Given the description of an element on the screen output the (x, y) to click on. 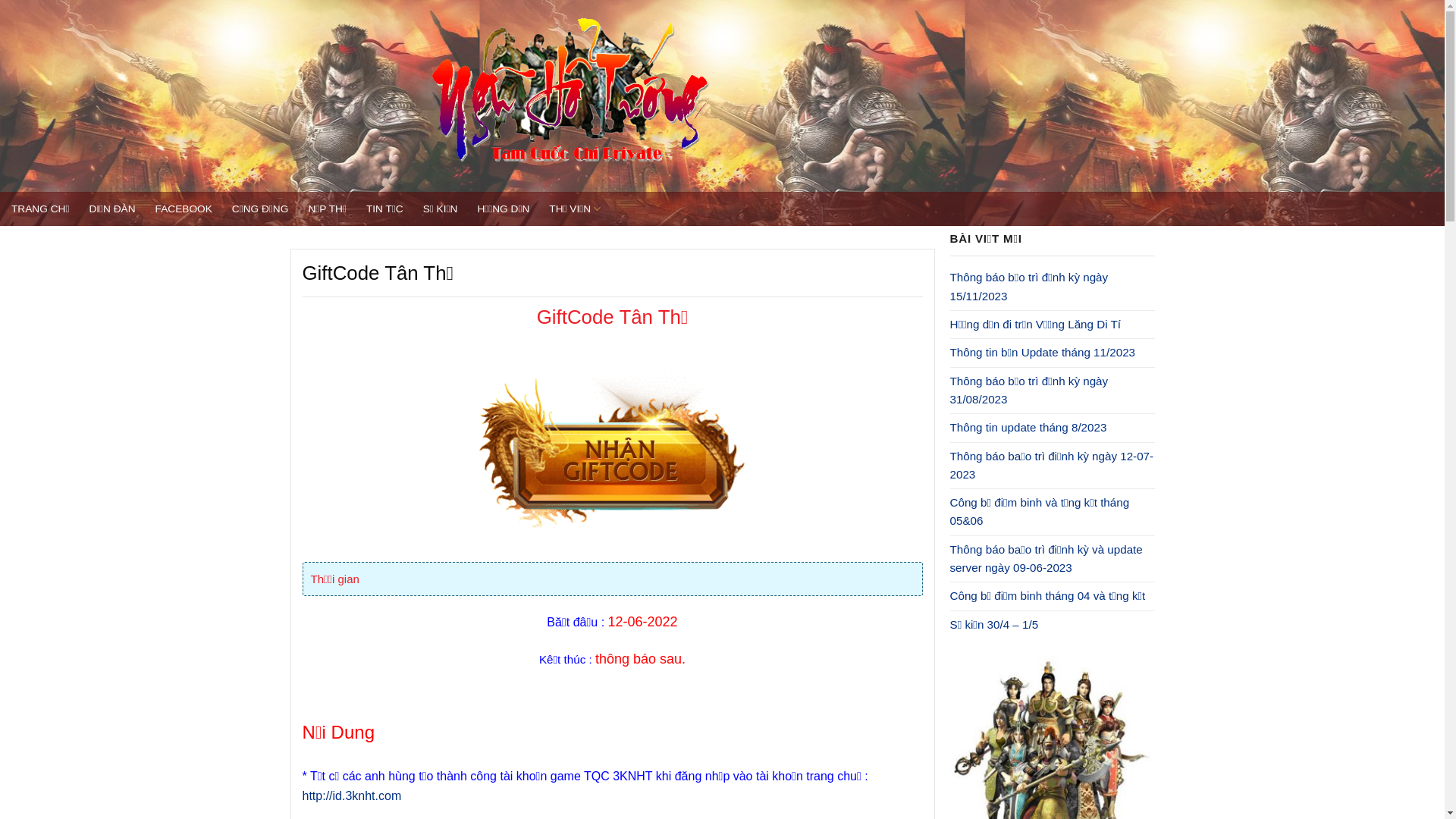
FACEBOOK Element type: text (183, 208)
http://id.3knht.com Element type: text (351, 795)
